Given the description of an element on the screen output the (x, y) to click on. 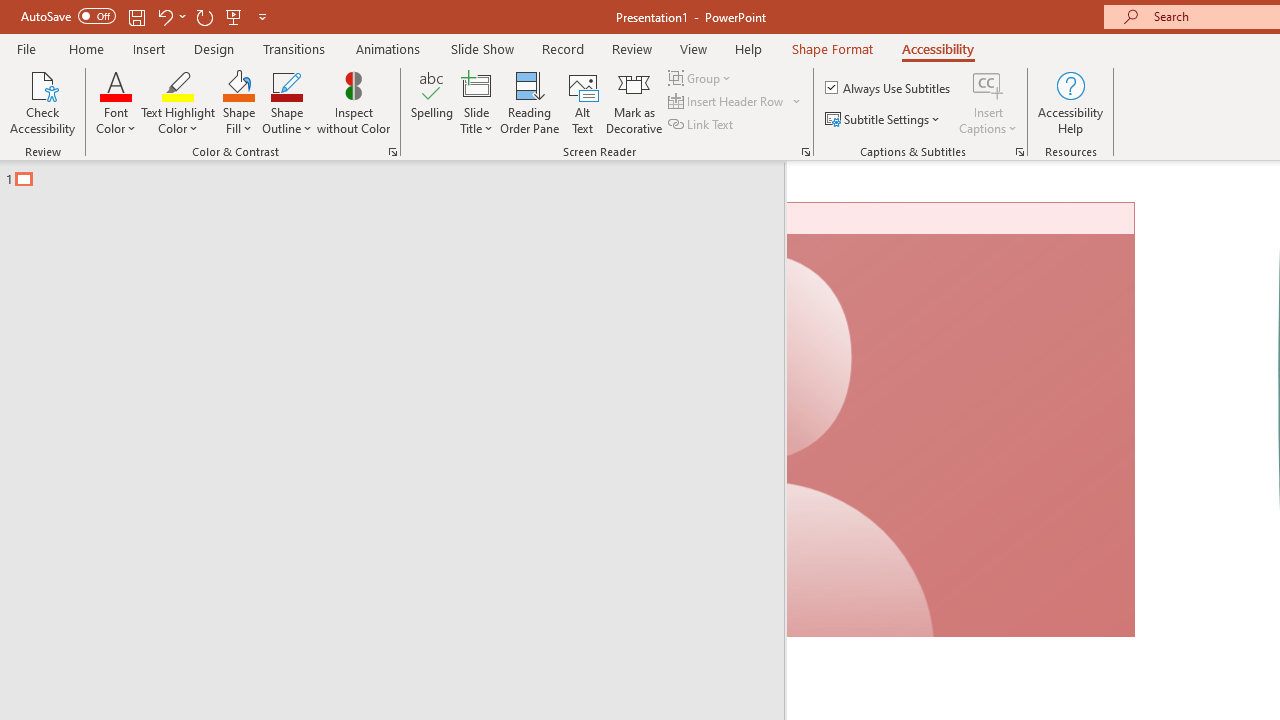
Group (701, 78)
Subtitle Settings (884, 119)
Slide Title (476, 102)
Text Highlight Color Yellow (178, 84)
Shape Fill Orange, Accent 2 (238, 84)
